Given the description of an element on the screen output the (x, y) to click on. 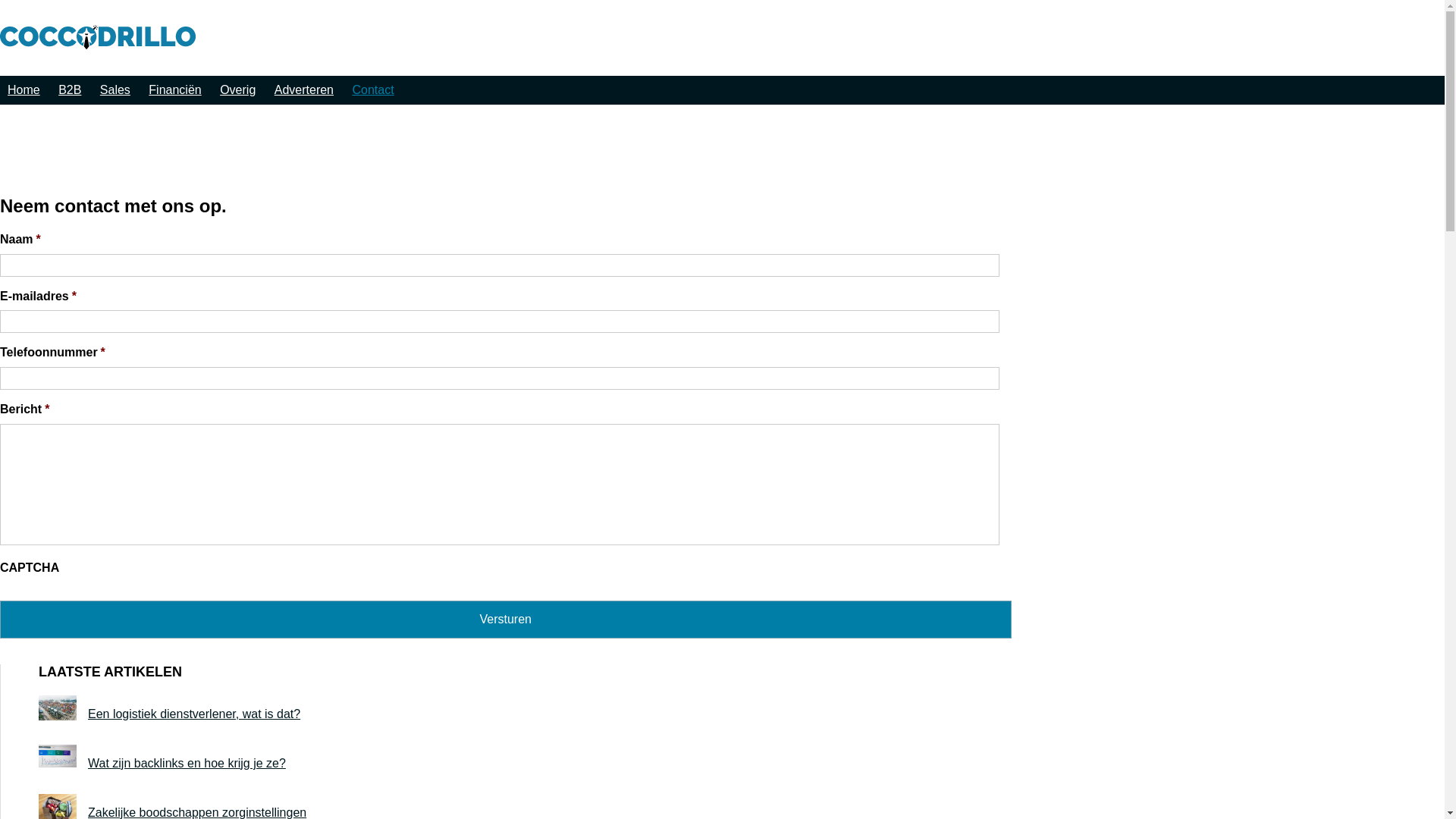
Een logistiek dienstverlener, wat is dat? Element type: text (573, 719)
Overig Element type: text (237, 89)
Wat zijn backlinks en hoe krijg je ze? Element type: text (573, 768)
Adverteren Element type: text (303, 89)
Sales Element type: text (115, 89)
B2B Element type: text (69, 89)
Versturen Element type: text (505, 619)
Contact Element type: text (372, 89)
Home Element type: text (23, 89)
